Given the description of an element on the screen output the (x, y) to click on. 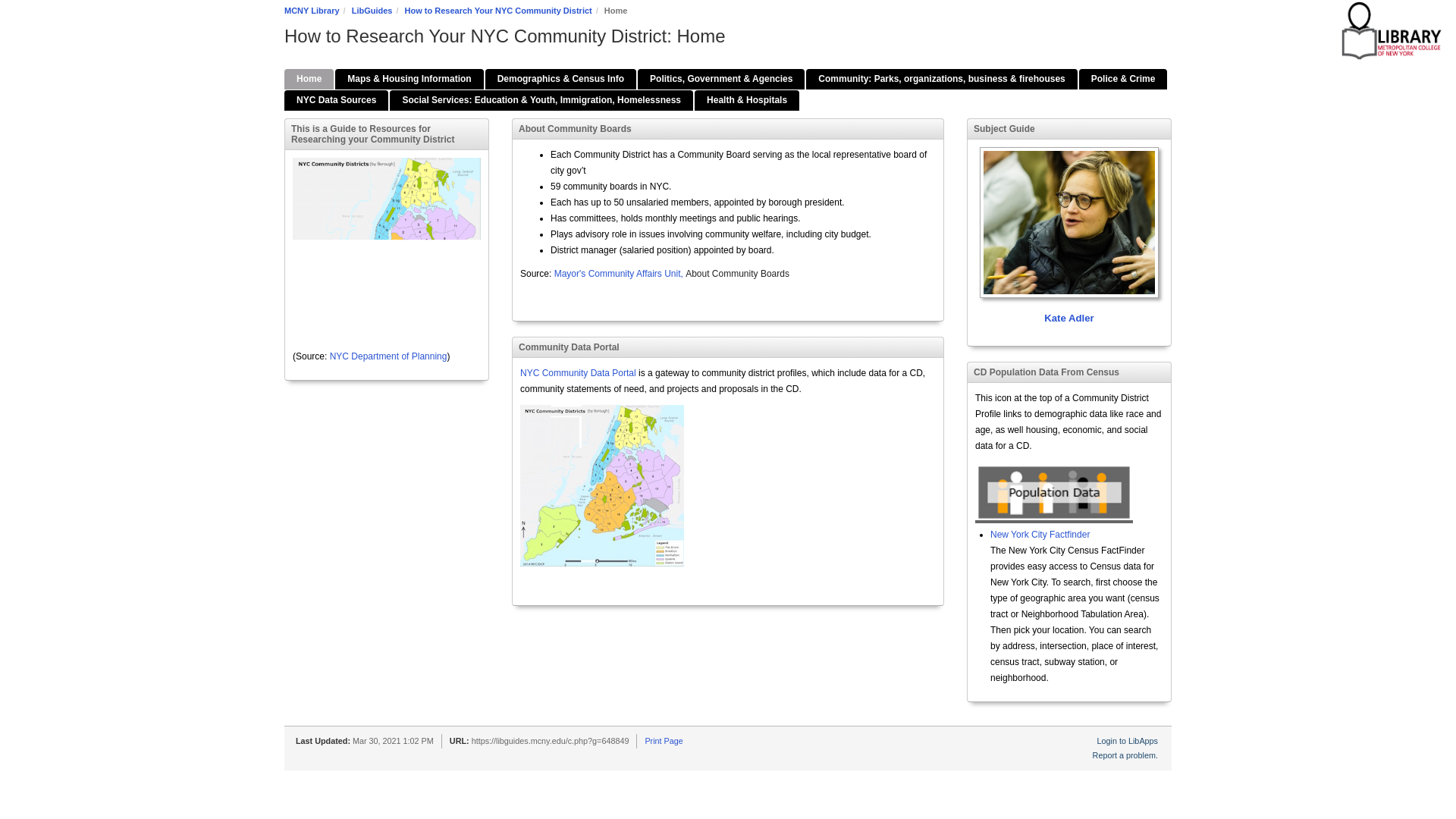
How to Research Your NYC Community District (498, 10)
Kate Adler (1069, 236)
Print Page (663, 740)
New York City Factfinder (1039, 534)
NYC Data Sources (335, 100)
LibGuides (372, 10)
Navigating Your Way Around (408, 78)
Report a problem. (1125, 755)
Mayor's Community Affairs Unit, About Community Boards (671, 273)
Home (308, 78)
MCNY Library (311, 10)
NYC Department of Planning (388, 356)
NYC Community Data Portal  (579, 372)
Login to LibApps (1127, 740)
